Given the description of an element on the screen output the (x, y) to click on. 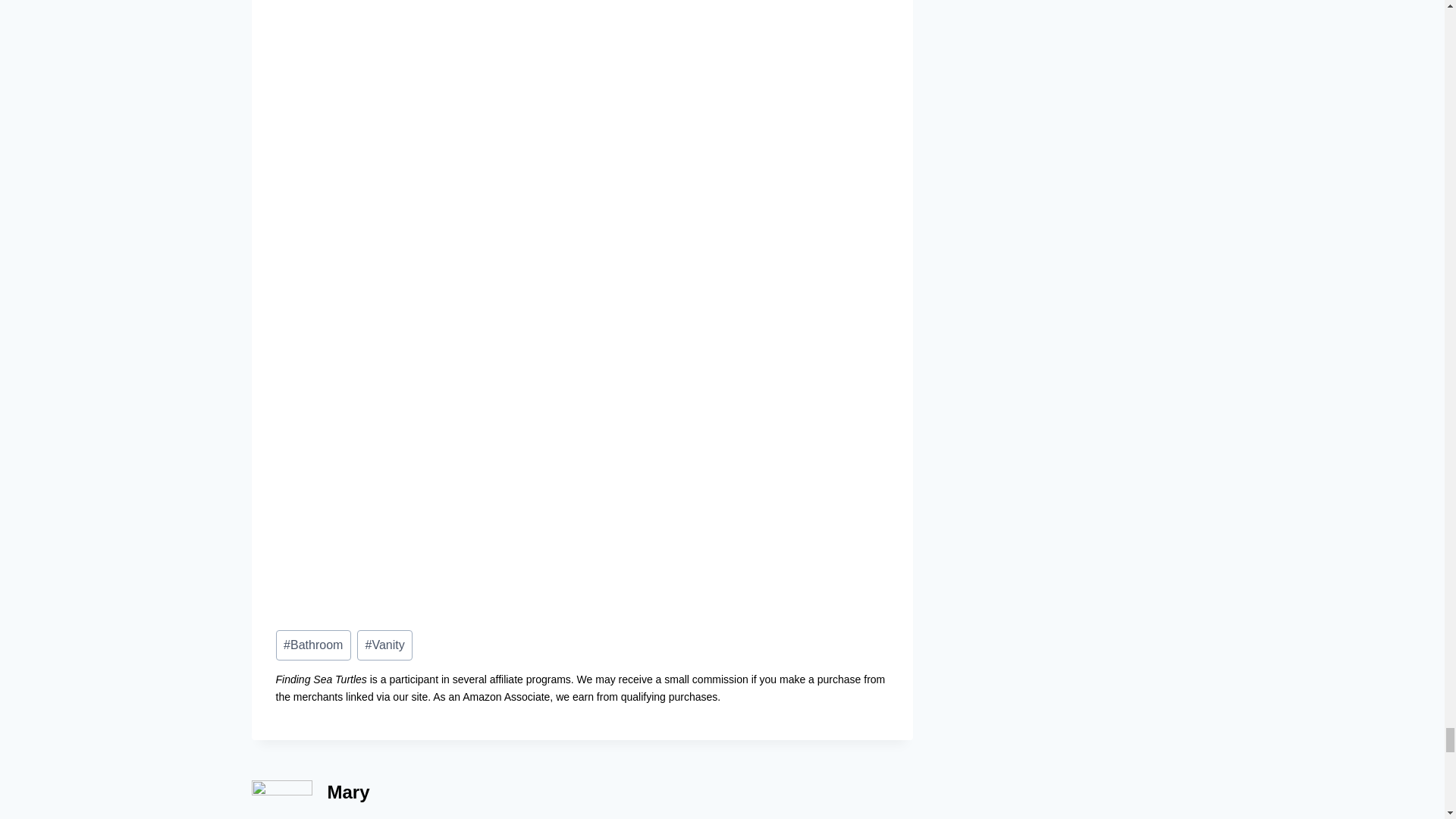
Vanity (384, 644)
Bathroom (313, 644)
Posts by Mary (348, 792)
